Given the description of an element on the screen output the (x, y) to click on. 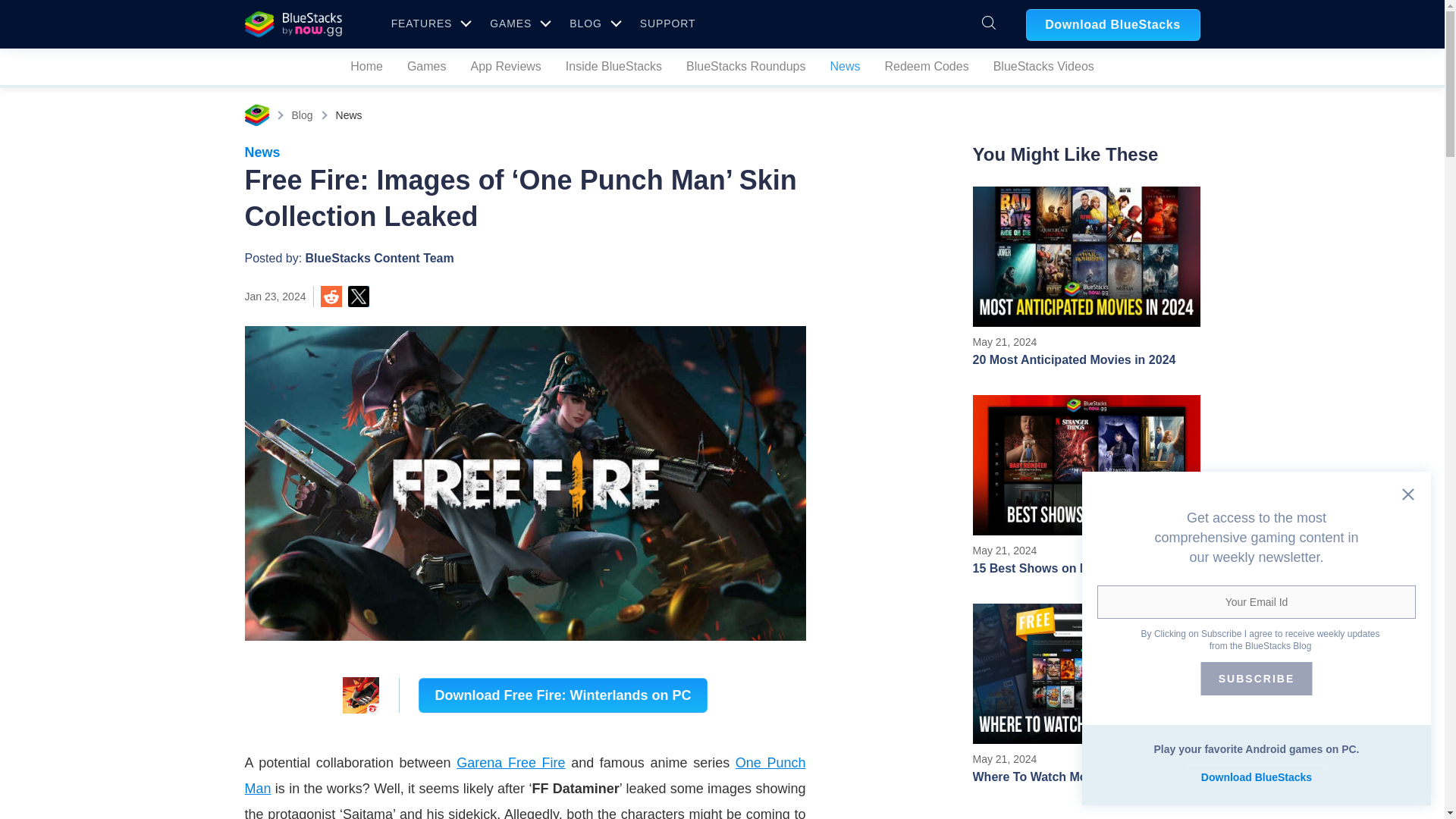
BLOG (592, 22)
FEATURES (721, 115)
GAMES (429, 22)
